Given the description of an element on the screen output the (x, y) to click on. 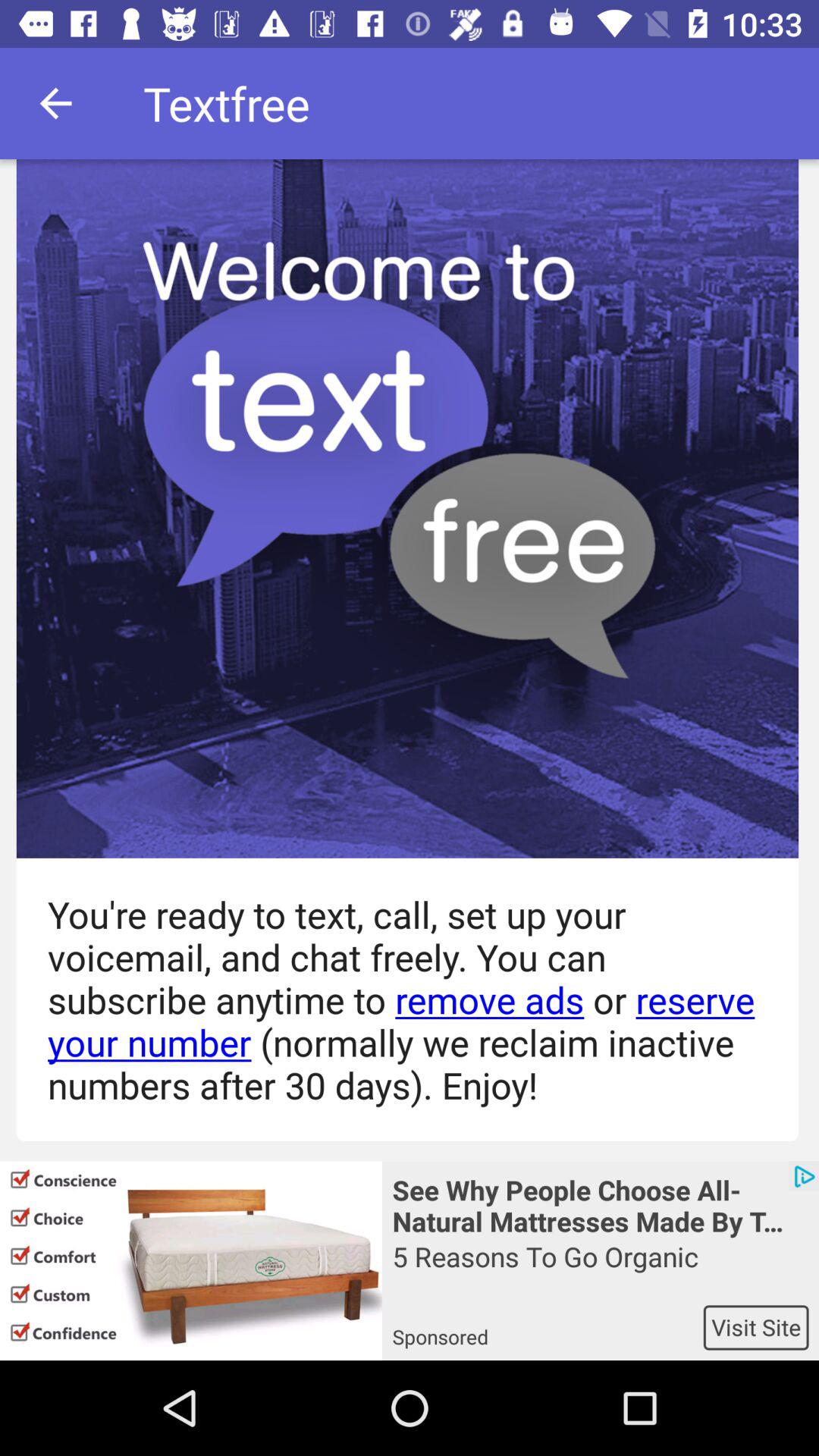
click the icon below you re ready icon (191, 1260)
